Given the description of an element on the screen output the (x, y) to click on. 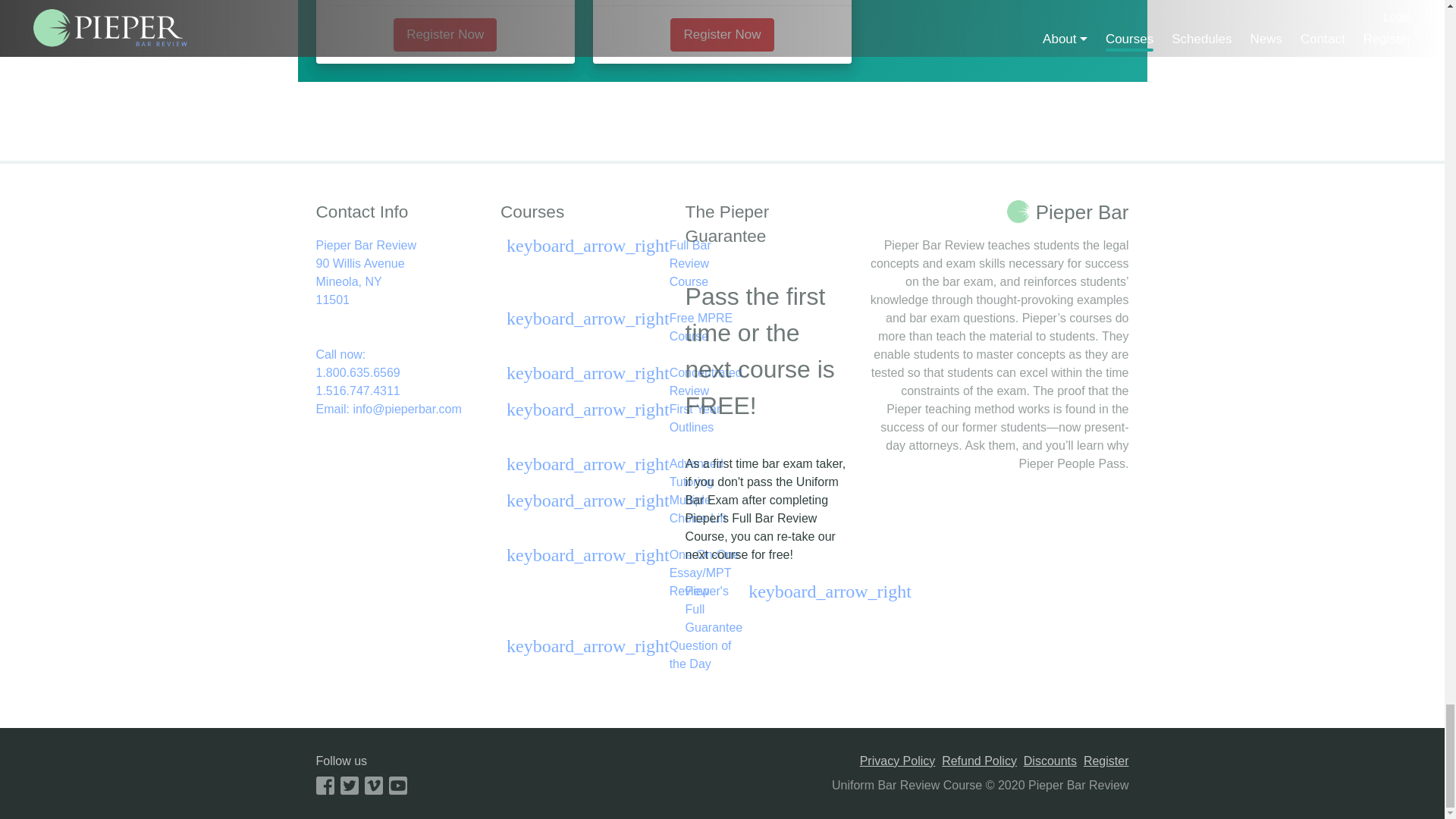
Register (1106, 761)
Register Now (444, 34)
Discounts (1050, 761)
Call now: (398, 354)
1.800.635.6569 (398, 372)
1.516.747.4311 (398, 391)
Register Now (721, 34)
Privacy Policy (898, 761)
Refund Policy (398, 272)
